Given the description of an element on the screen output the (x, y) to click on. 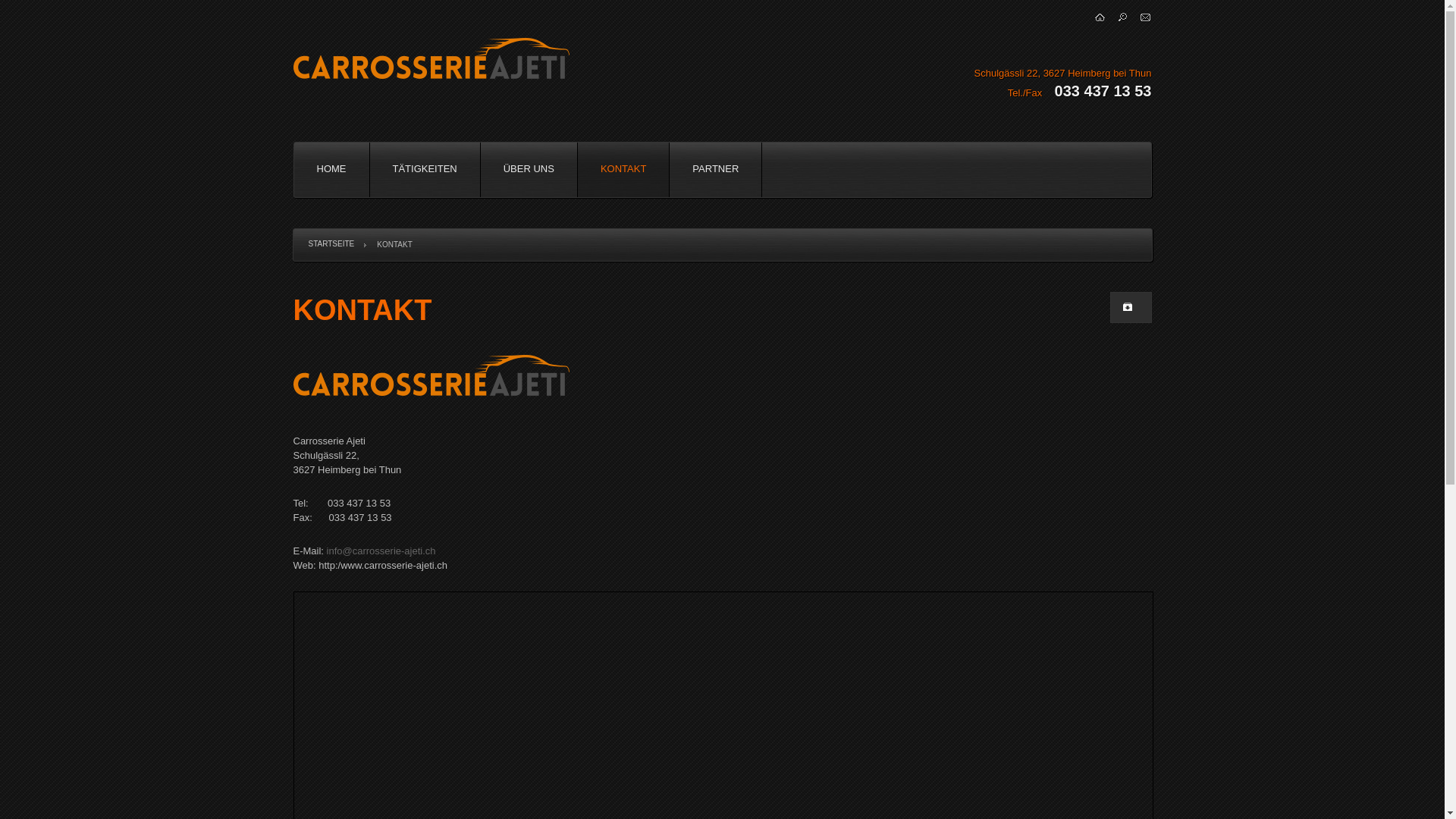
info@carrosserie-ajeti.ch Element type: text (381, 550)
PARTNER Element type: text (715, 168)
STARTSEITE Element type: text (330, 243)
HOME Element type: text (331, 168)
KONTAKT Element type: text (623, 168)
